Given the description of an element on the screen output the (x, y) to click on. 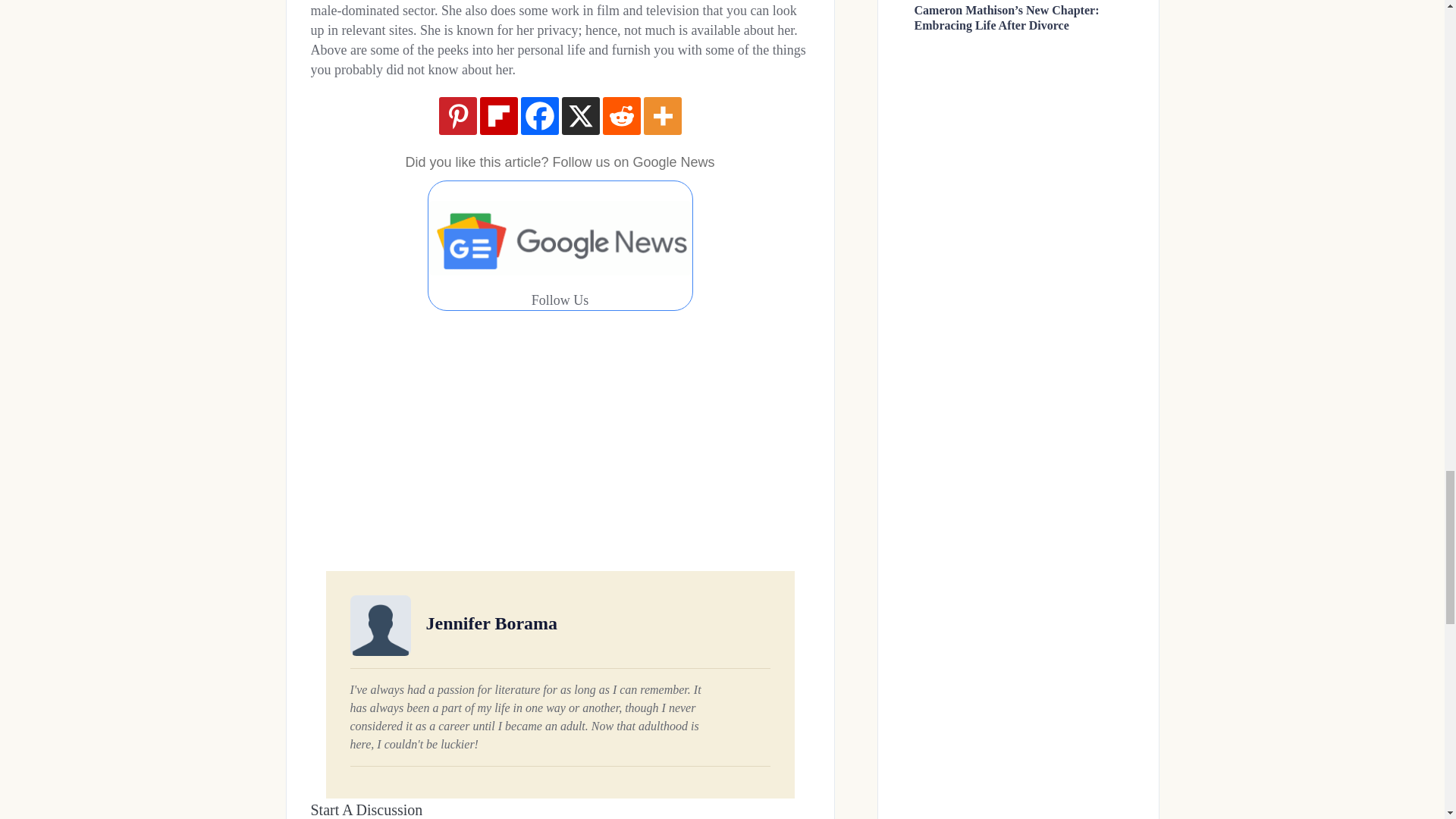
Facebook (538, 116)
X (579, 116)
Pinterest (457, 116)
Reddit (621, 116)
Flipboard (497, 116)
More (662, 116)
